Given the description of an element on the screen output the (x, y) to click on. 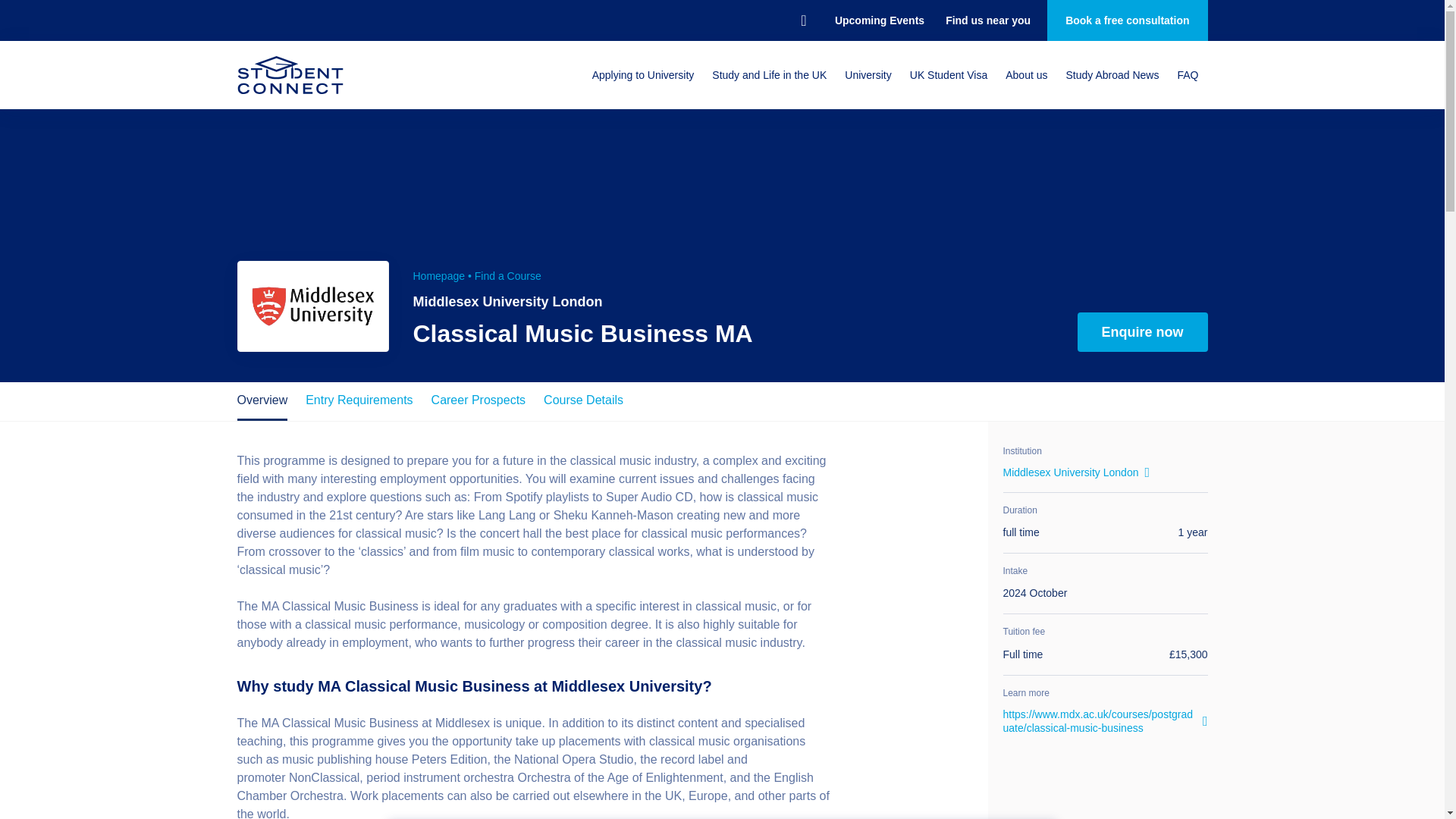
Applying to University (643, 74)
UK Student Visa (948, 74)
logo (312, 306)
Upcoming Events (878, 19)
Search (803, 20)
Find us near you (987, 19)
Study and Life in the UK (769, 74)
Book a free consultation (1126, 20)
